Given the description of an element on the screen output the (x, y) to click on. 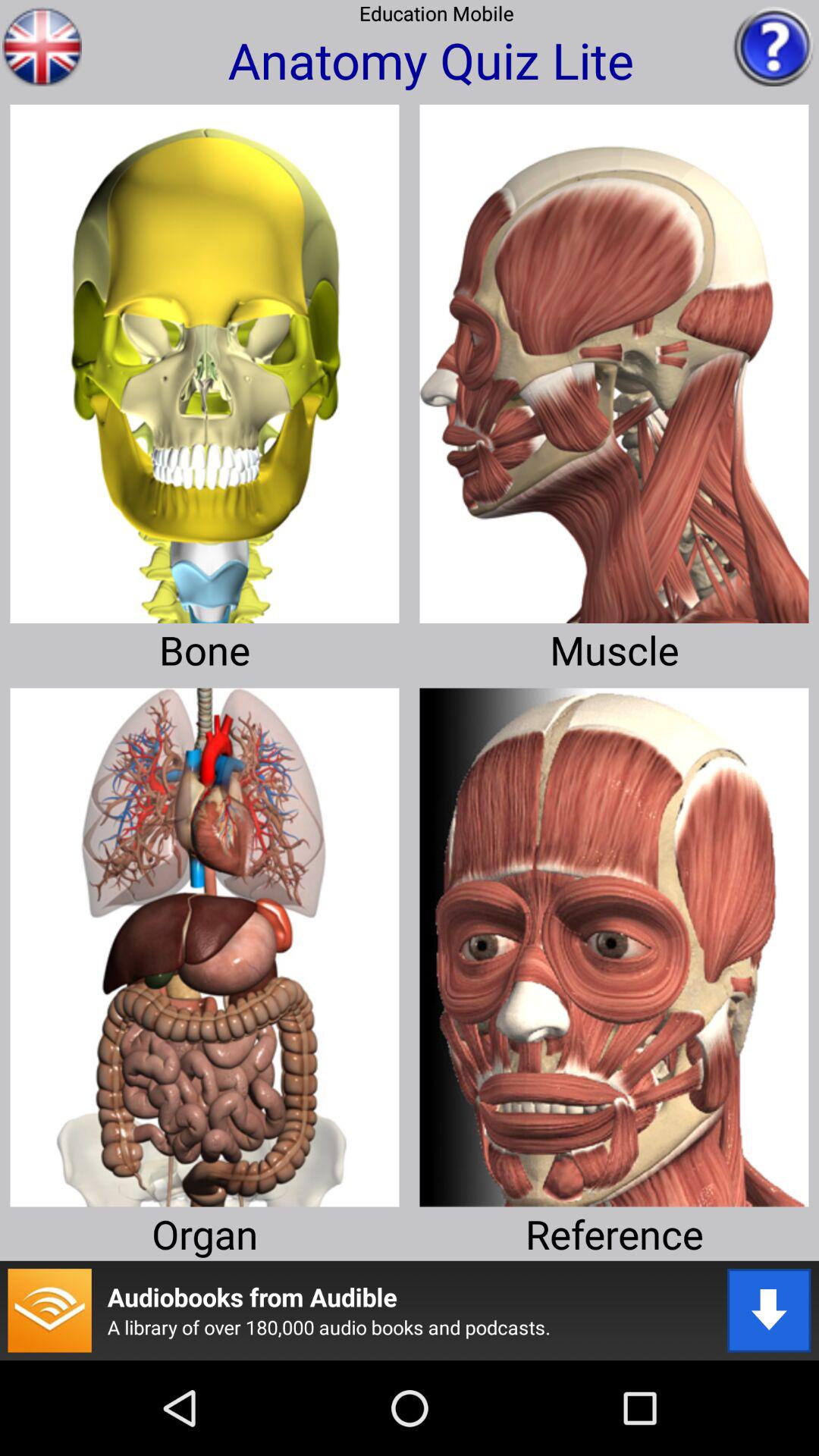
select organ (204, 941)
